Given the description of an element on the screen output the (x, y) to click on. 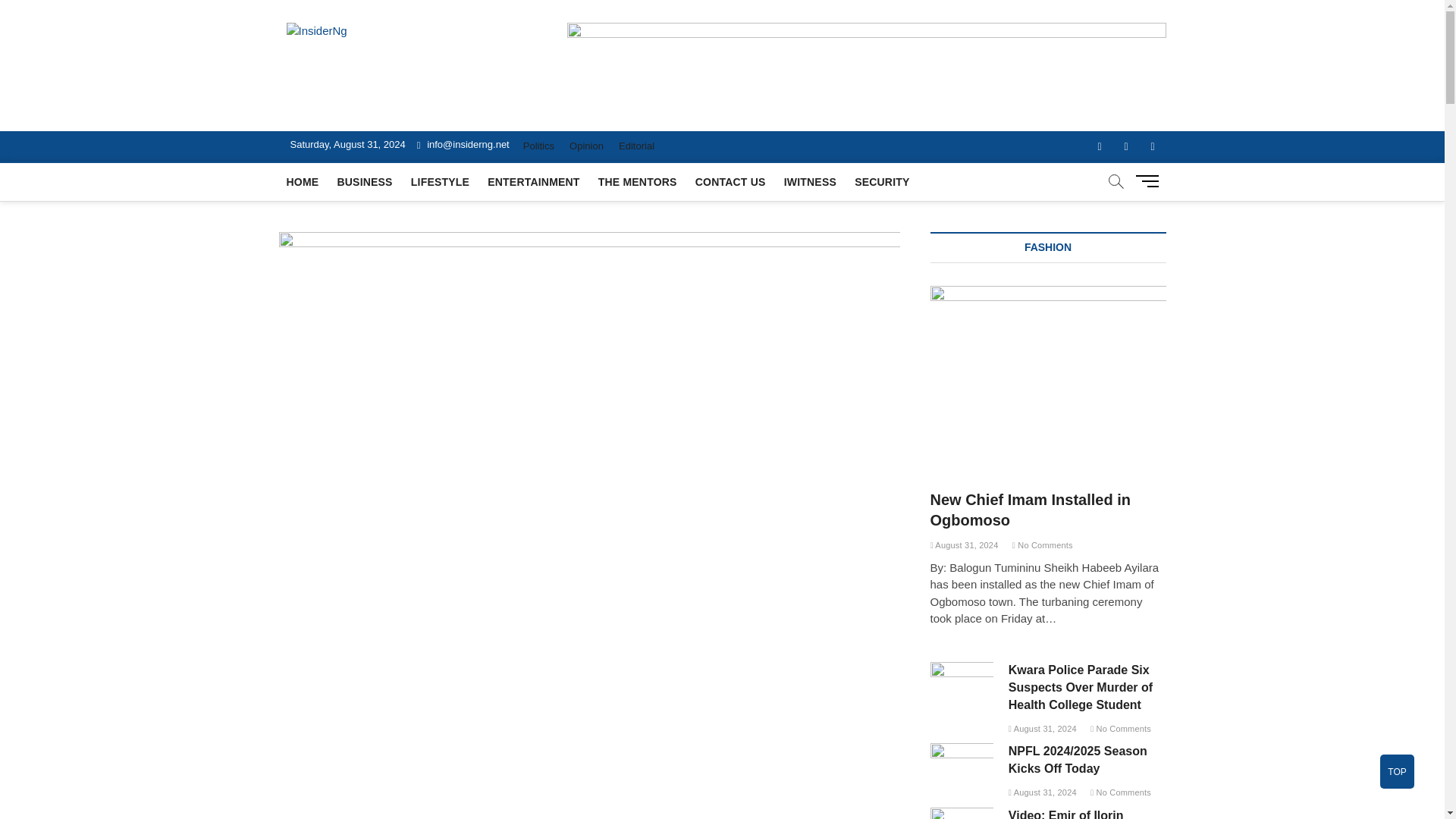
LIFESTYLE (440, 181)
CONTACT US (730, 181)
Mail Us (462, 143)
HOME (302, 181)
New Chief Imam Installed in Ogbomoso (1048, 368)
Editorial (636, 146)
BUSINESS (363, 181)
August 31, 2024 (1043, 791)
THE MENTORS (637, 181)
